Given the description of an element on the screen output the (x, y) to click on. 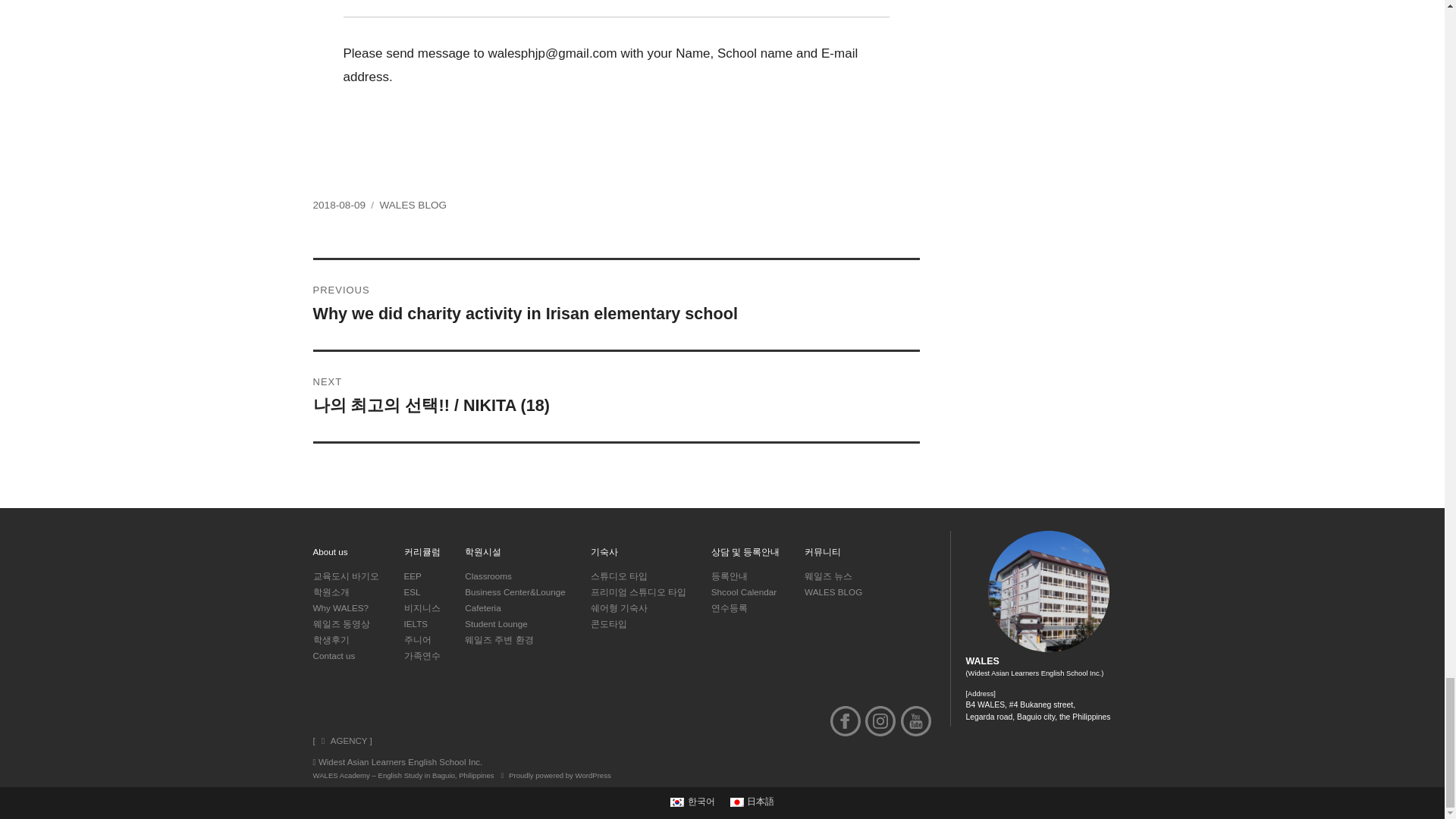
facebook (844, 720)
instagram (879, 720)
youtube (916, 720)
